Given the description of an element on the screen output the (x, y) to click on. 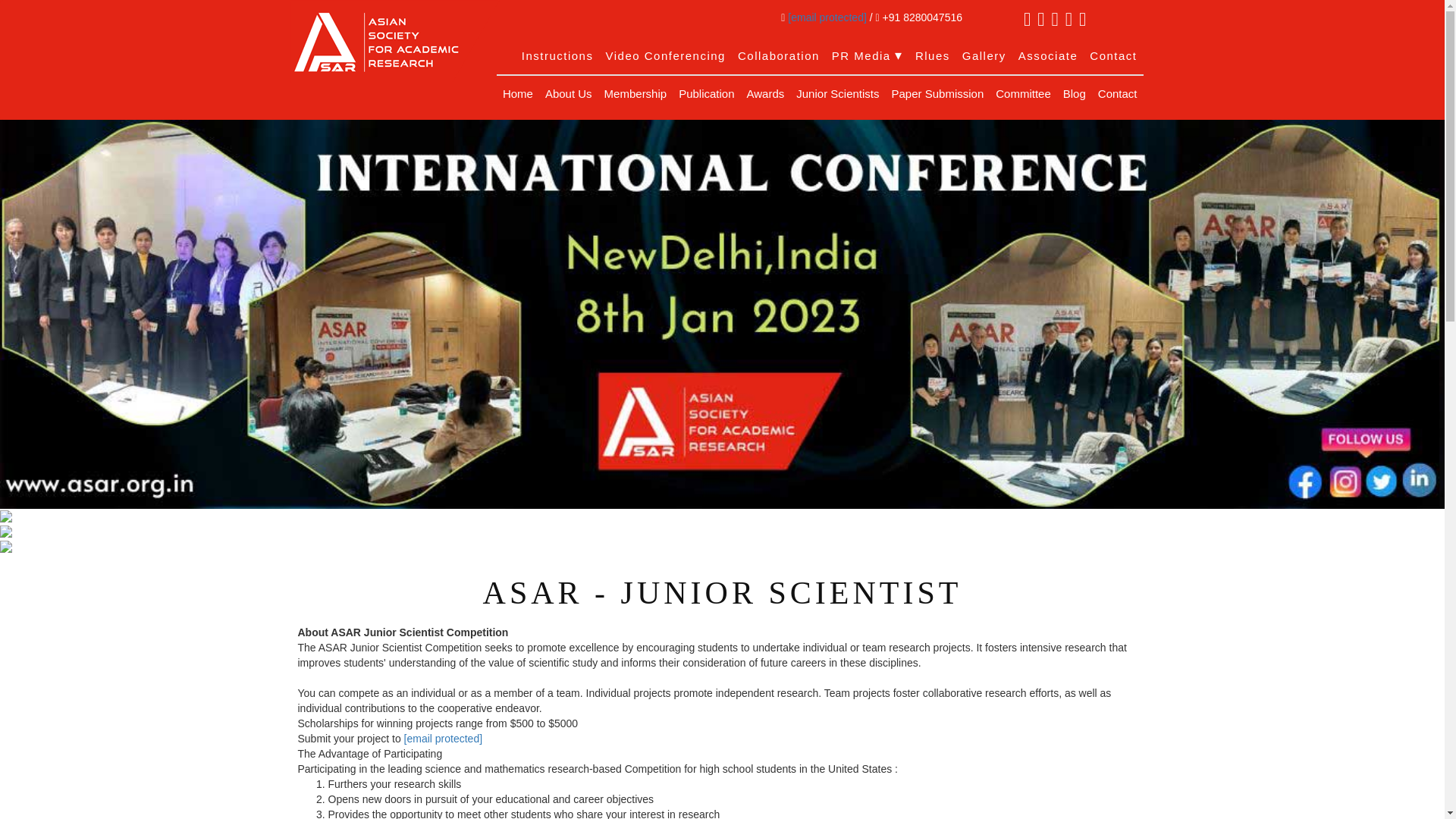
Contact (1112, 55)
Committee (1023, 94)
Awards (765, 94)
Blog (1074, 94)
Rlues (932, 55)
Instructions (557, 55)
Paper Submission (937, 94)
Awards (765, 94)
Collaboration (778, 55)
Gallery (983, 55)
